Given the description of an element on the screen output the (x, y) to click on. 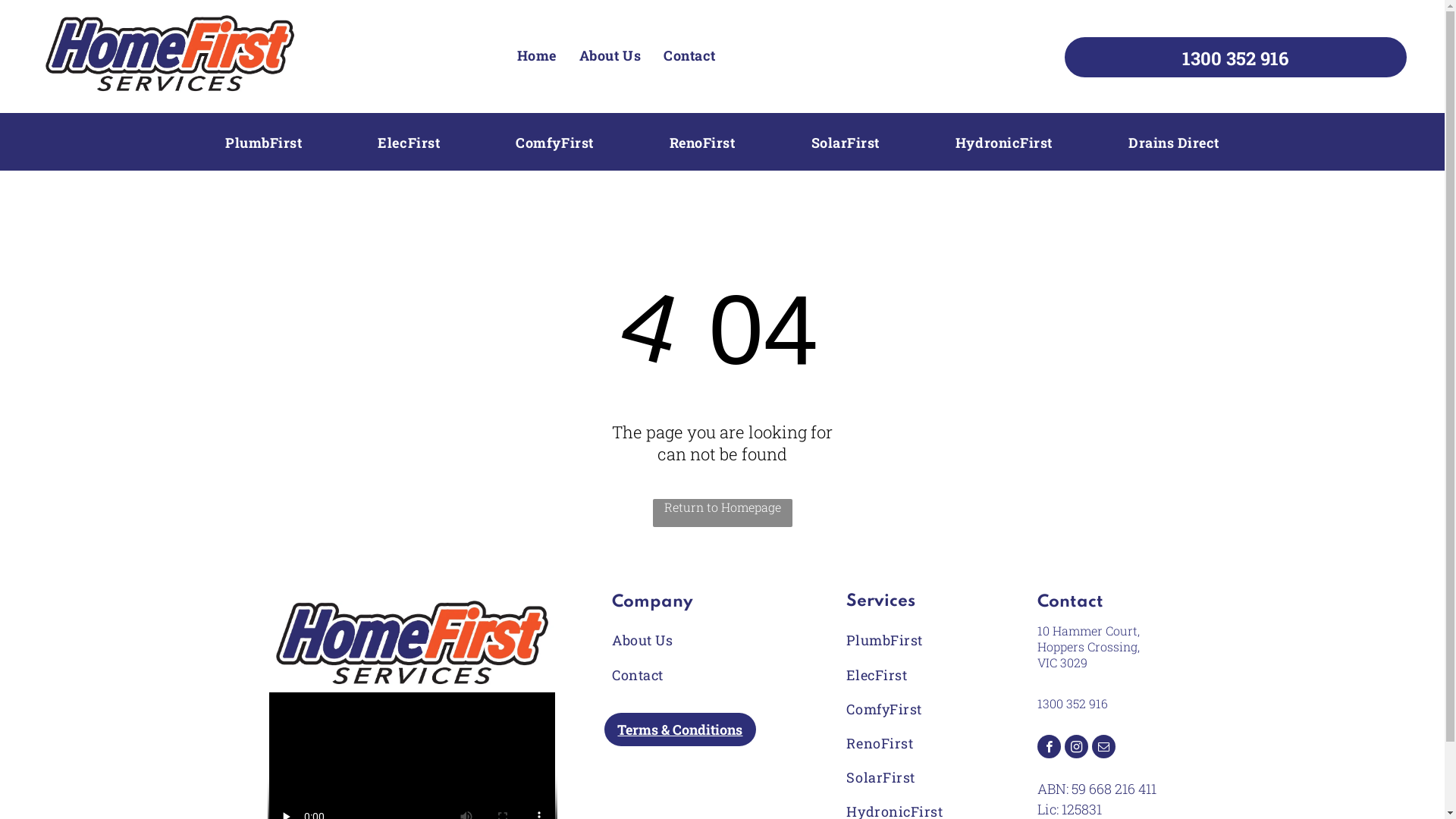
Contact Element type: text (674, 674)
PlumbFirst Element type: text (908, 640)
ElecFirst Element type: text (908, 674)
1300 352 916 Element type: text (1235, 57)
About Us Element type: text (674, 640)
1300 352 916 Element type: text (1072, 703)
RenoFirst Element type: text (908, 742)
PlumbFirst Element type: text (263, 141)
ComfyFirst Element type: text (908, 708)
Contact Element type: text (689, 54)
Drains Direct Element type: text (1173, 141)
HydronicFirst Element type: text (1003, 141)
SolarFirst Element type: text (845, 141)
Terms & Conditions Element type: text (680, 729)
Home Element type: text (536, 54)
ElecFirst Element type: text (408, 141)
About Us Element type: text (609, 54)
Return to Homepage Element type: text (721, 512)
SolarFirst Element type: text (908, 776)
RenoFirst Element type: text (702, 141)
ComfyFirst Element type: text (553, 141)
